Given the description of an element on the screen output the (x, y) to click on. 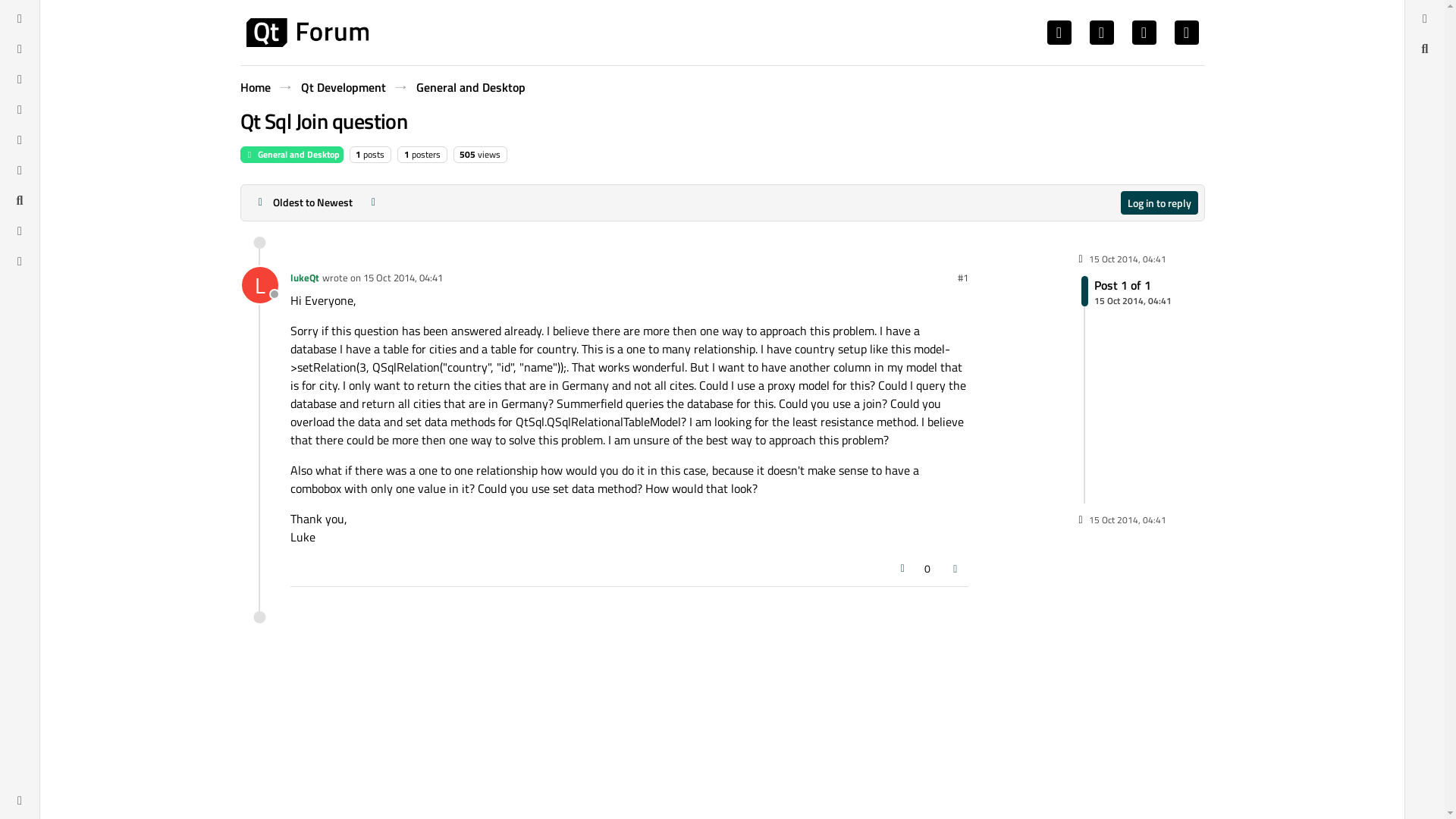
General and Desktop (291, 154)
2014-10-14T20:41:34.000Z (1131, 300)
Home (254, 86)
15 Oct 2014, 04:41 (1126, 291)
505 (402, 277)
Qt Development (468, 154)
lukeQt (342, 86)
General and Desktop (259, 284)
Oldest to Newest (469, 86)
Brand Logo (303, 201)
15 Oct 2014, 04:41 (307, 32)
lukeQt (1127, 258)
Upvote post (259, 284)
